Given the description of an element on the screen output the (x, y) to click on. 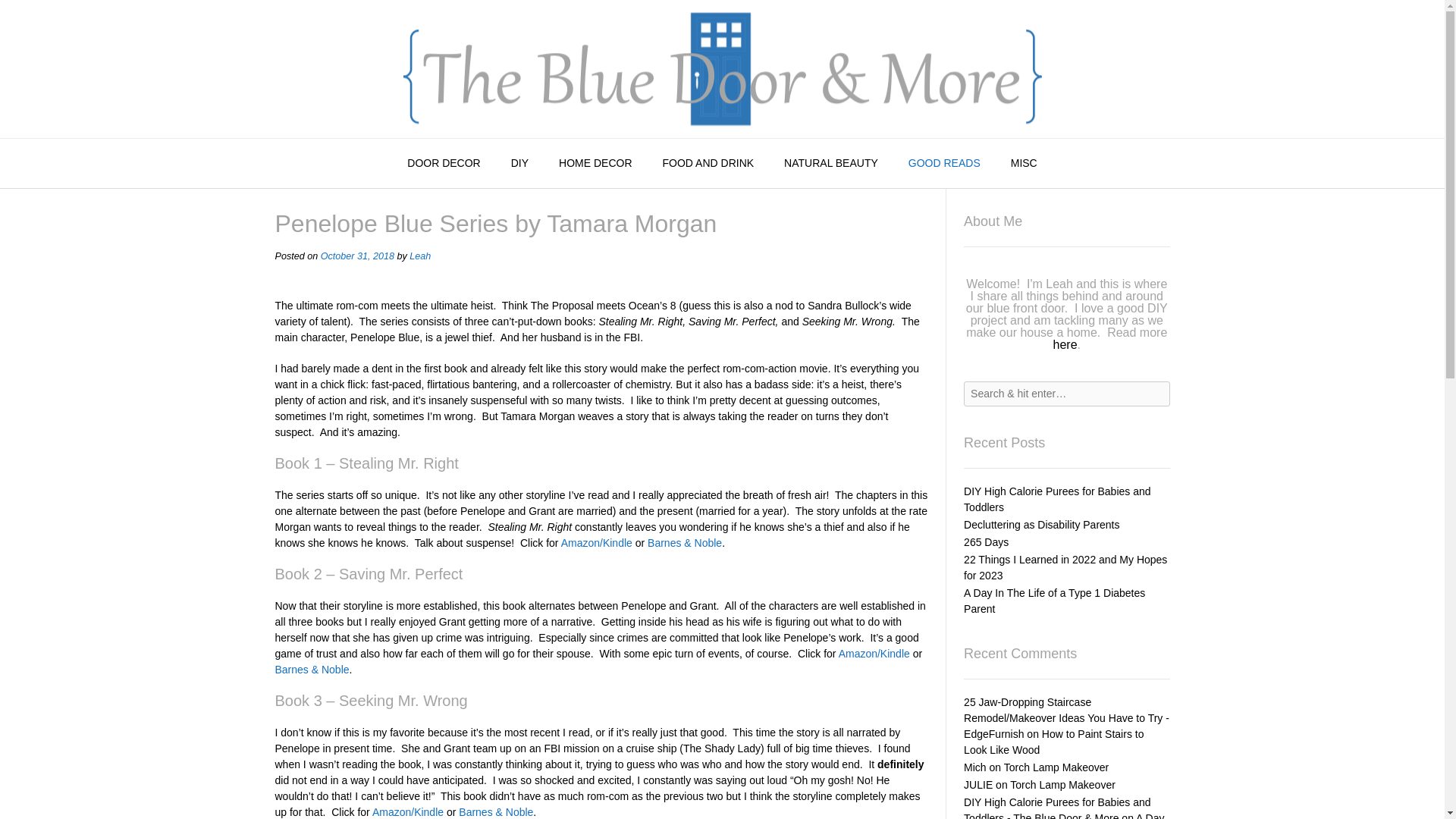
NATURAL BEAUTY (830, 163)
DIY High Calorie Purees for Babies and Toddlers (1056, 499)
HOME DECOR (594, 163)
A Day In The Life of a Type 1 Diabetes Parent (1053, 601)
MISC (1023, 163)
here (1064, 344)
DIY (519, 163)
DOOR DECOR (443, 163)
October 31, 2018 (357, 255)
Search for: (1066, 393)
265 Days (986, 541)
22 Things I Learned in 2022 and My Hopes for 2023 (1065, 567)
Decluttering as Disability Parents (1041, 524)
GOOD READS (944, 163)
FOOD AND DRINK (708, 163)
